Given the description of an element on the screen output the (x, y) to click on. 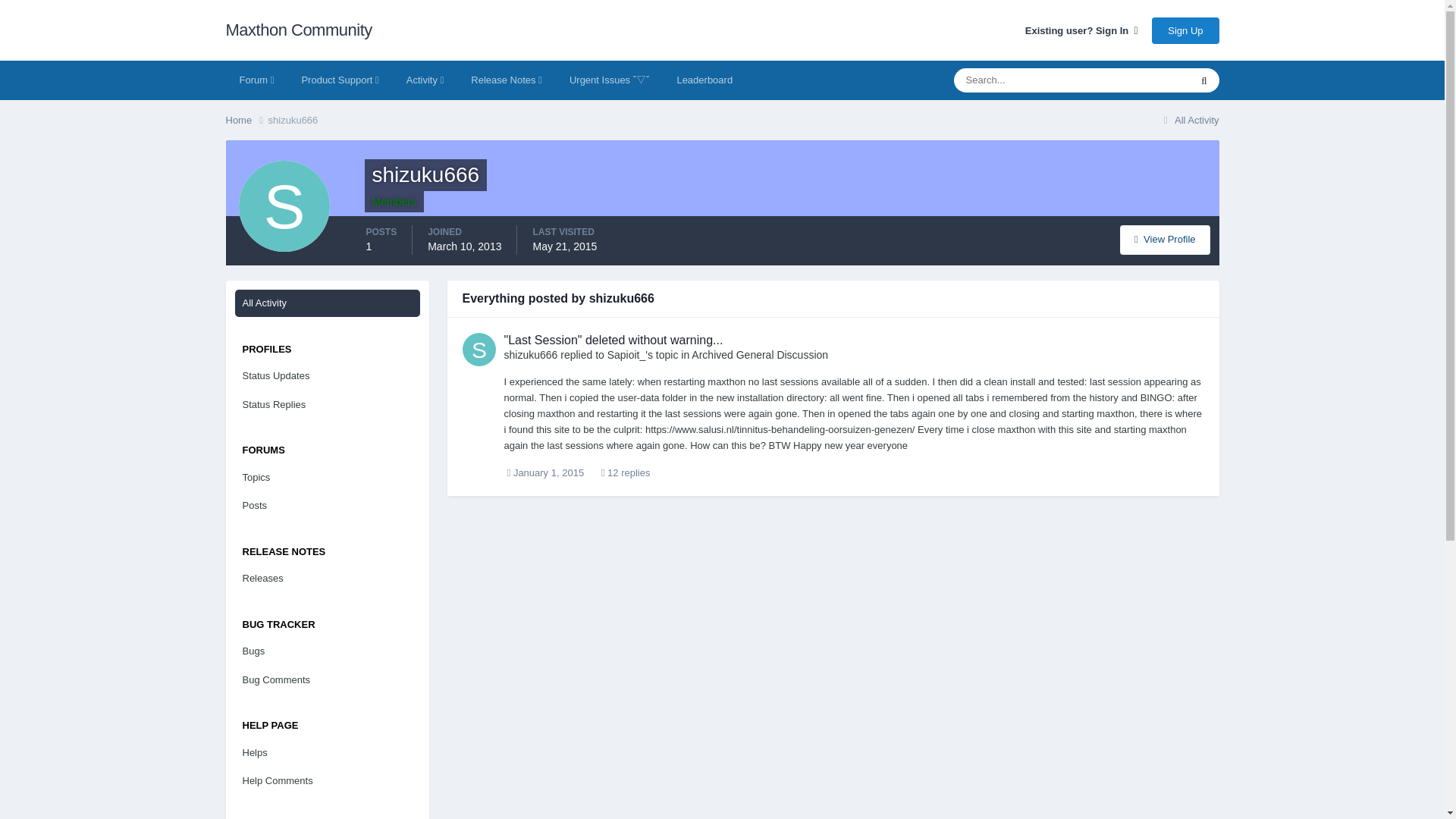
Product Support (338, 79)
shizuku666's Profile (1164, 239)
Forum (256, 79)
 View Profile (1164, 239)
Maxthon Community (298, 30)
Home (246, 120)
Existing user? Sign In   (1081, 30)
Sign Up (1184, 29)
Leaderboard (703, 79)
Go to shizuku666's profile (530, 354)
